Given the description of an element on the screen output the (x, y) to click on. 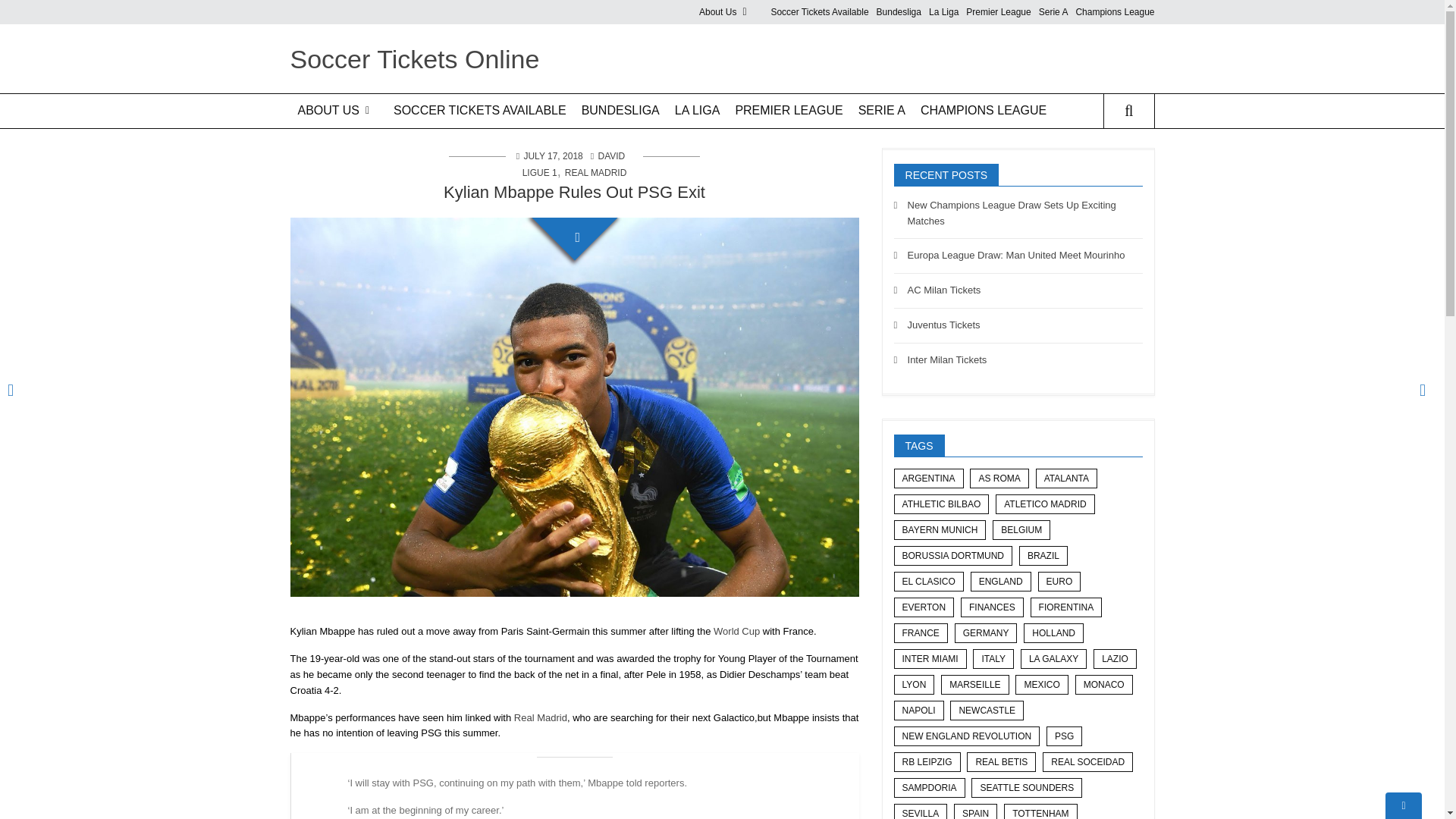
Champions League (1114, 12)
Soccer Tickets Online (413, 59)
REAL MADRID (595, 172)
Privacy (346, 173)
La Liga (943, 12)
SOCCER TICKETS AVAILABLE (479, 110)
Privacy (755, 70)
SERIE A (881, 110)
Real Madrid (540, 717)
Terms Of Use (755, 44)
